Given the description of an element on the screen output the (x, y) to click on. 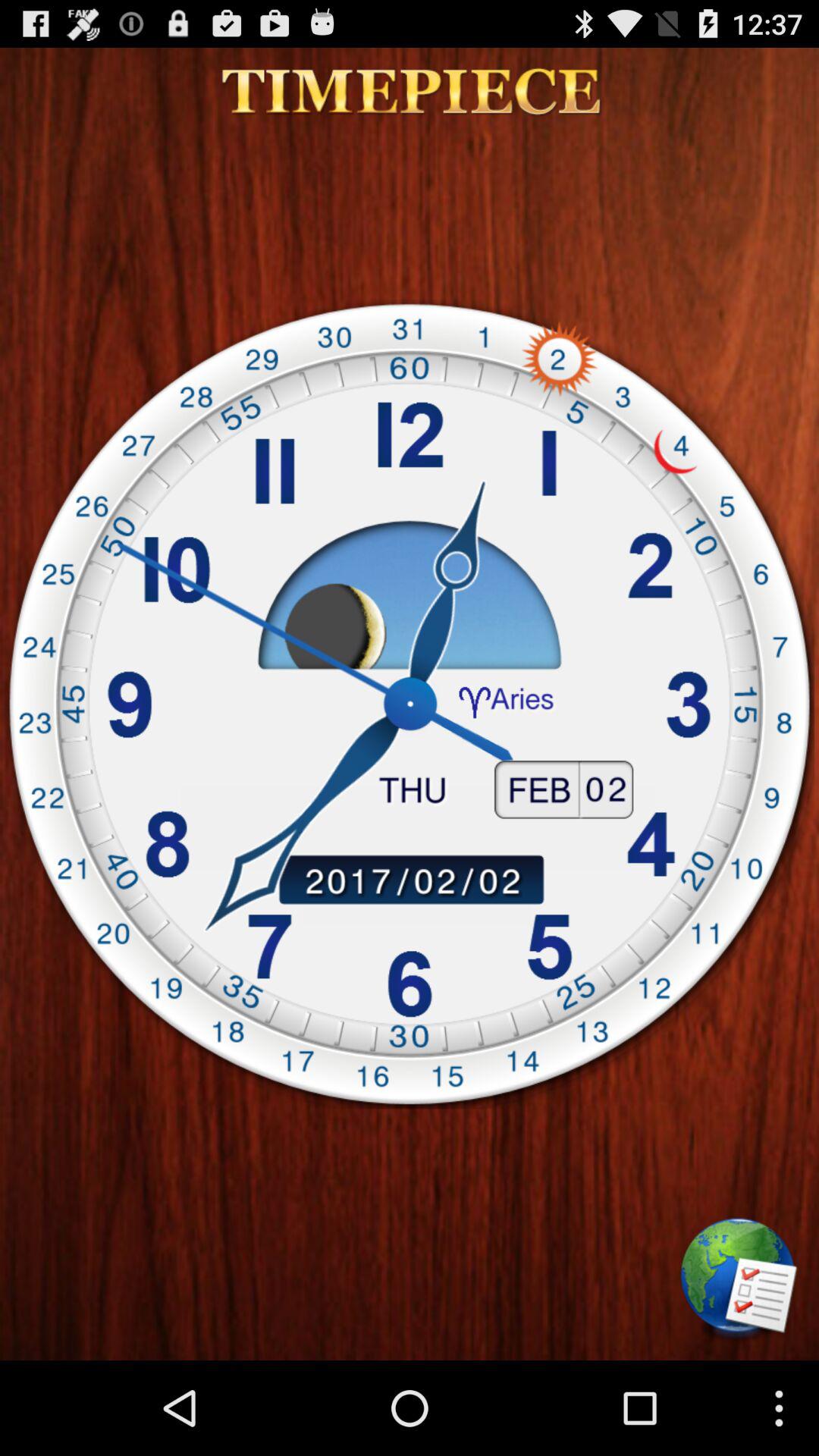
tap icon at the top (409, 92)
